Given the description of an element on the screen output the (x, y) to click on. 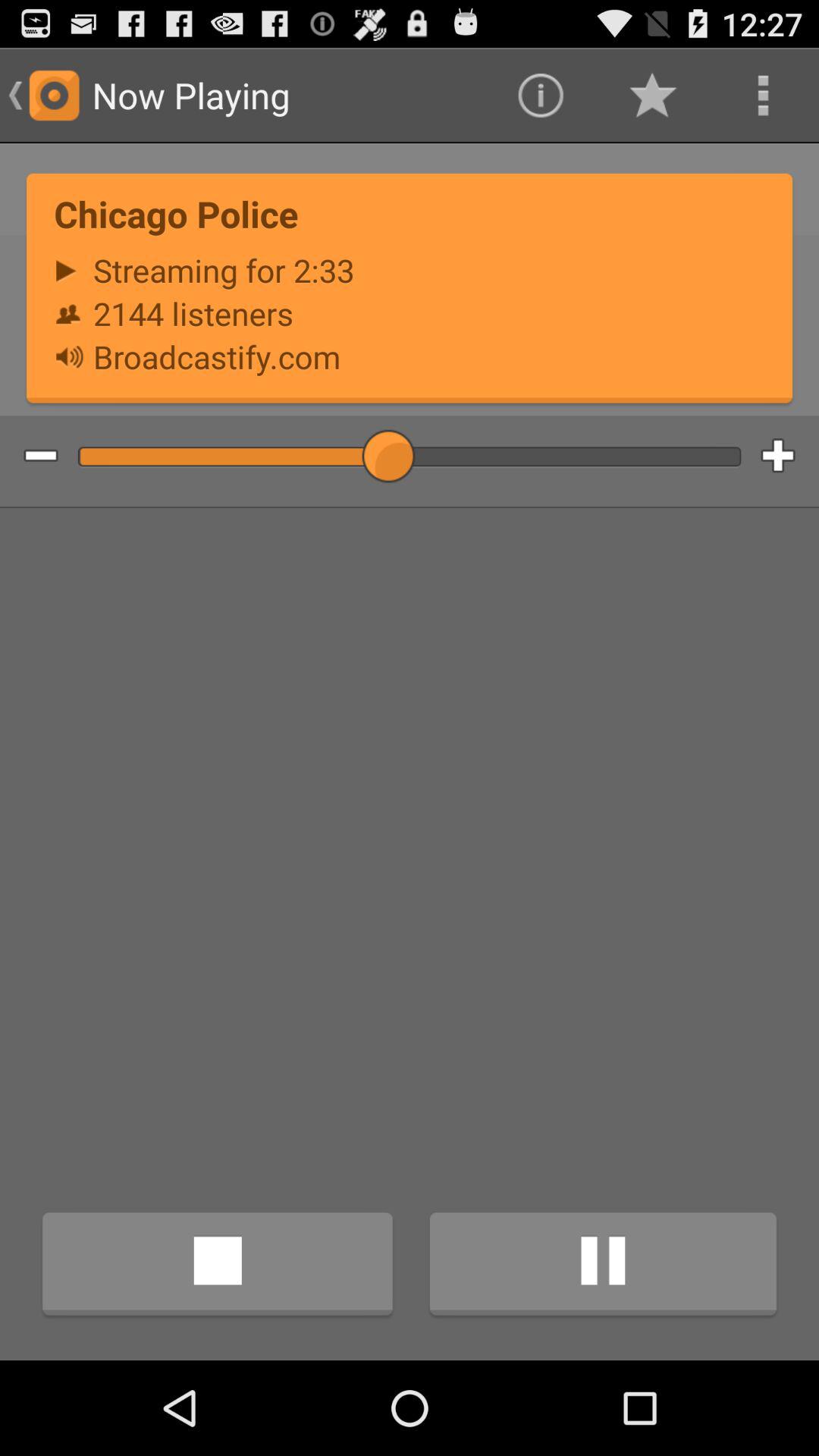
decrease volume (29, 456)
